Given the description of an element on the screen output the (x, y) to click on. 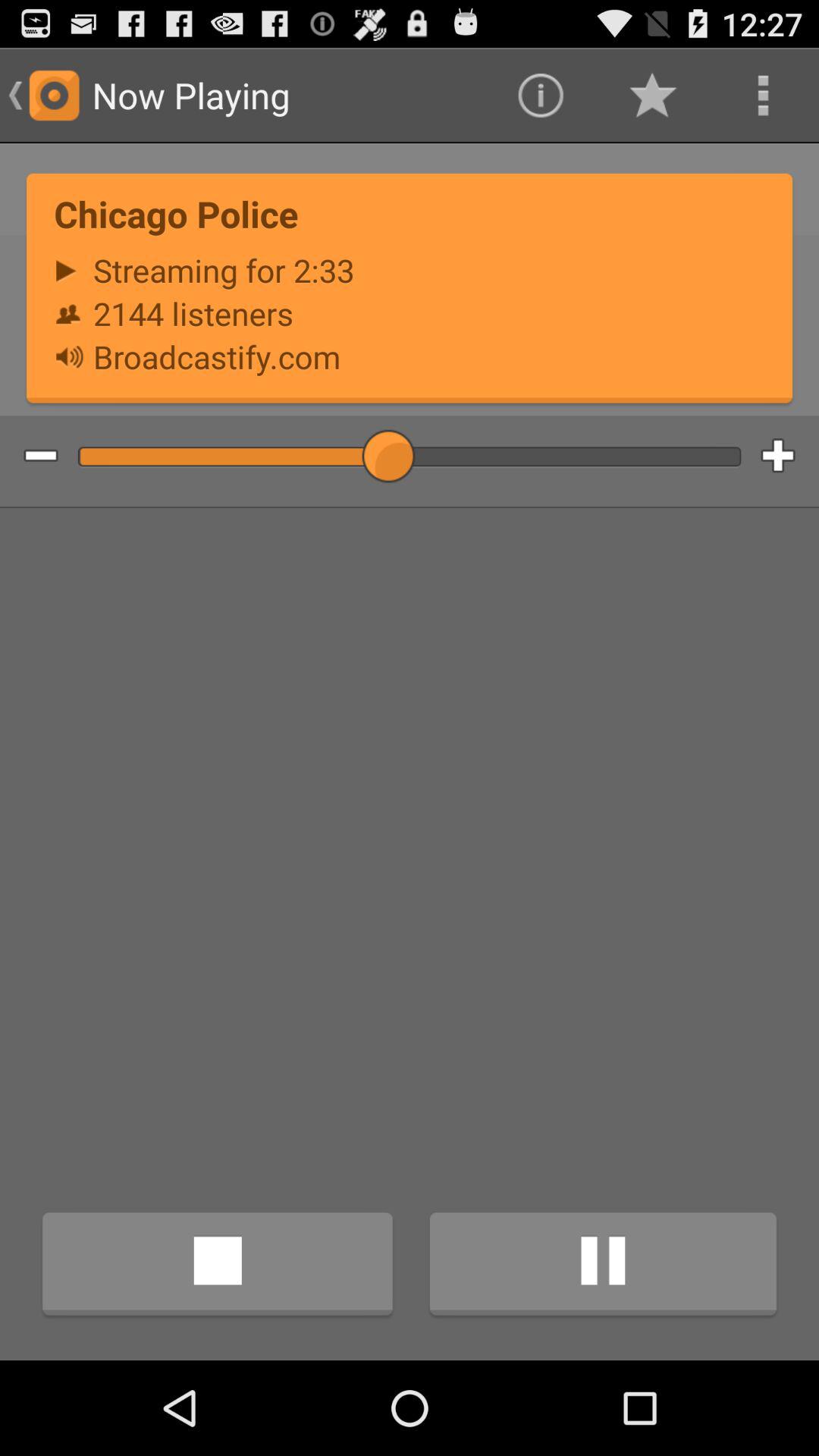
decrease volume (29, 456)
